Given the description of an element on the screen output the (x, y) to click on. 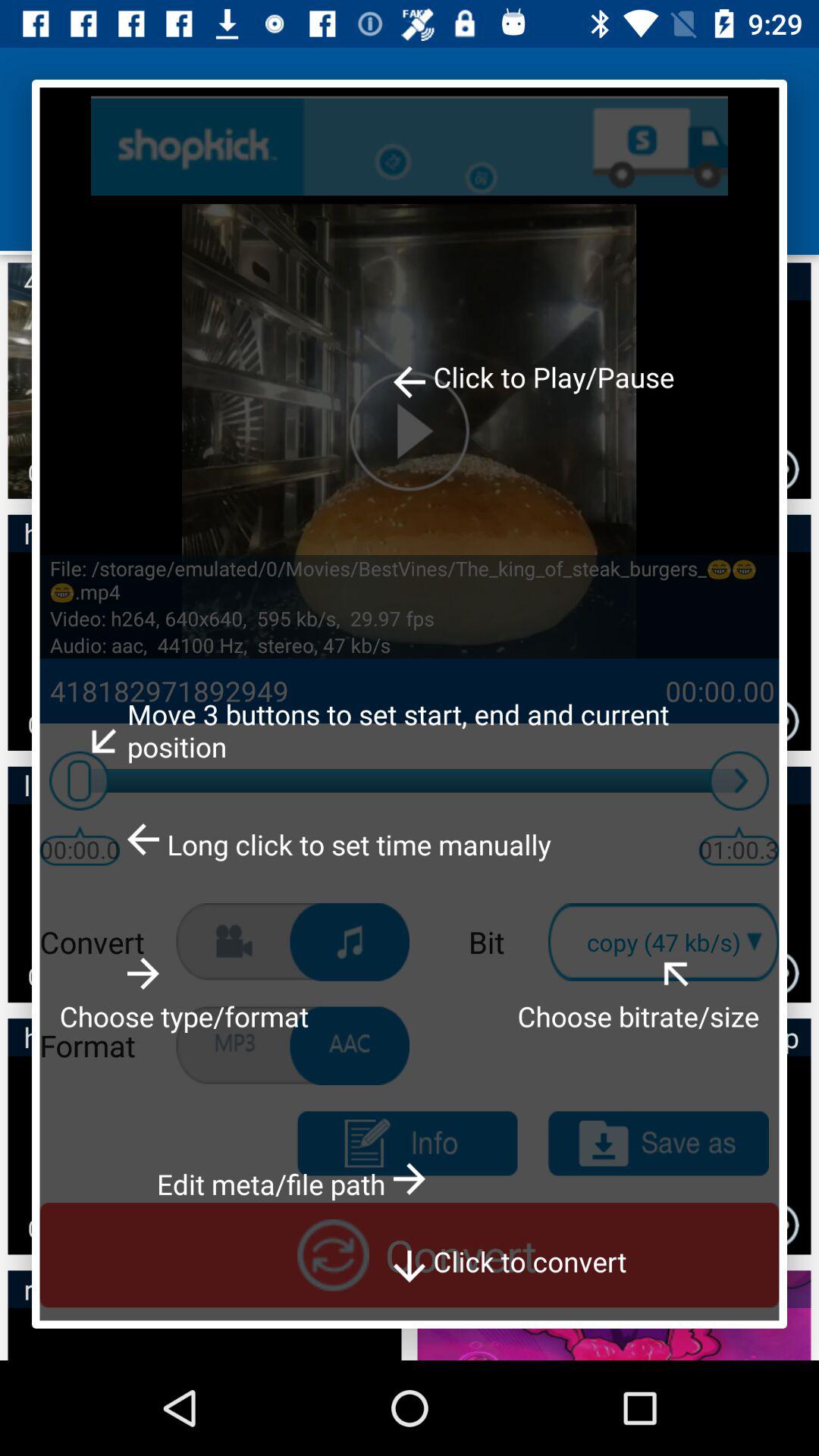
change audio format (349, 1045)
